Given the description of an element on the screen output the (x, y) to click on. 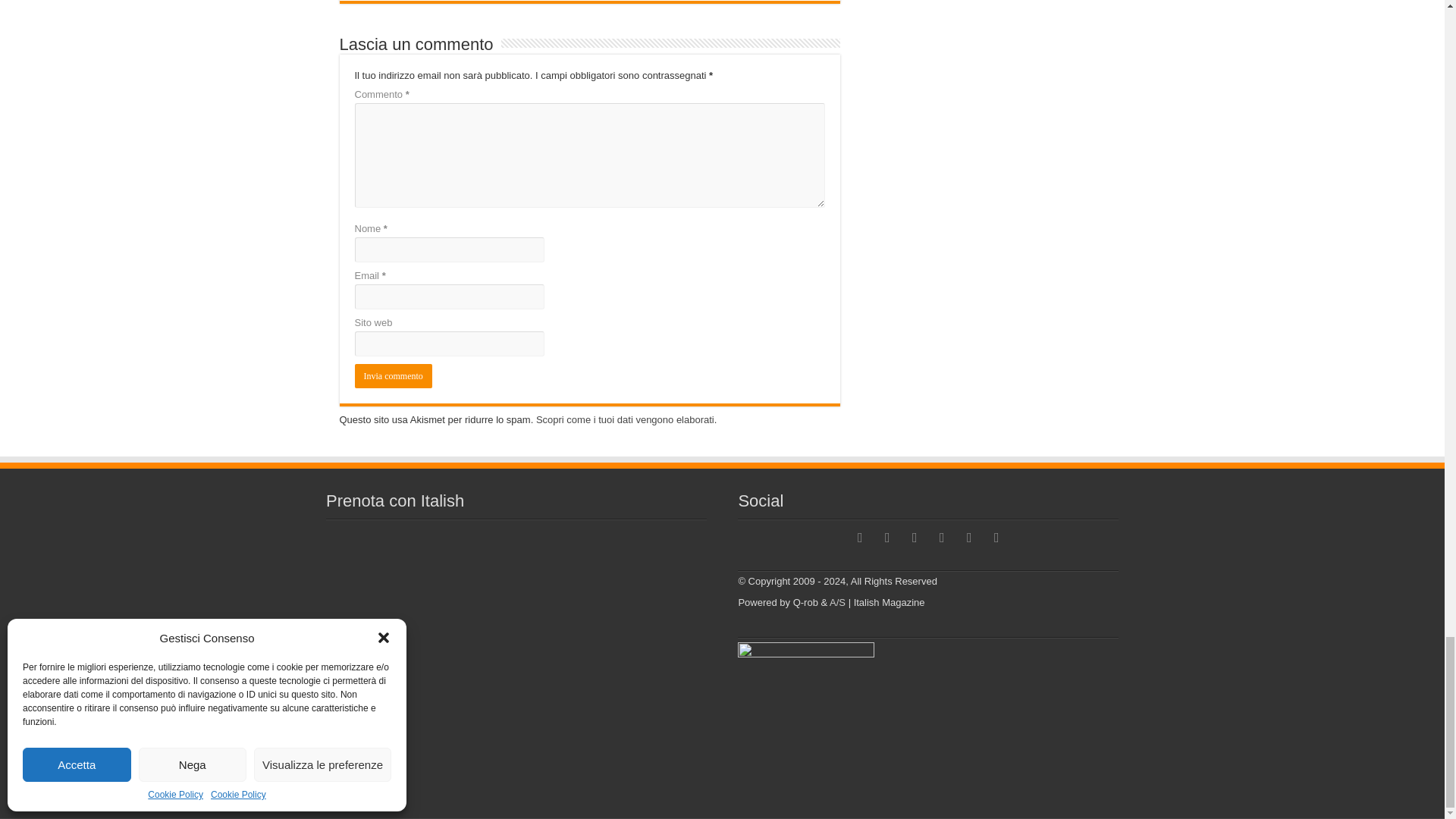
Invia commento (393, 375)
